Given the description of an element on the screen output the (x, y) to click on. 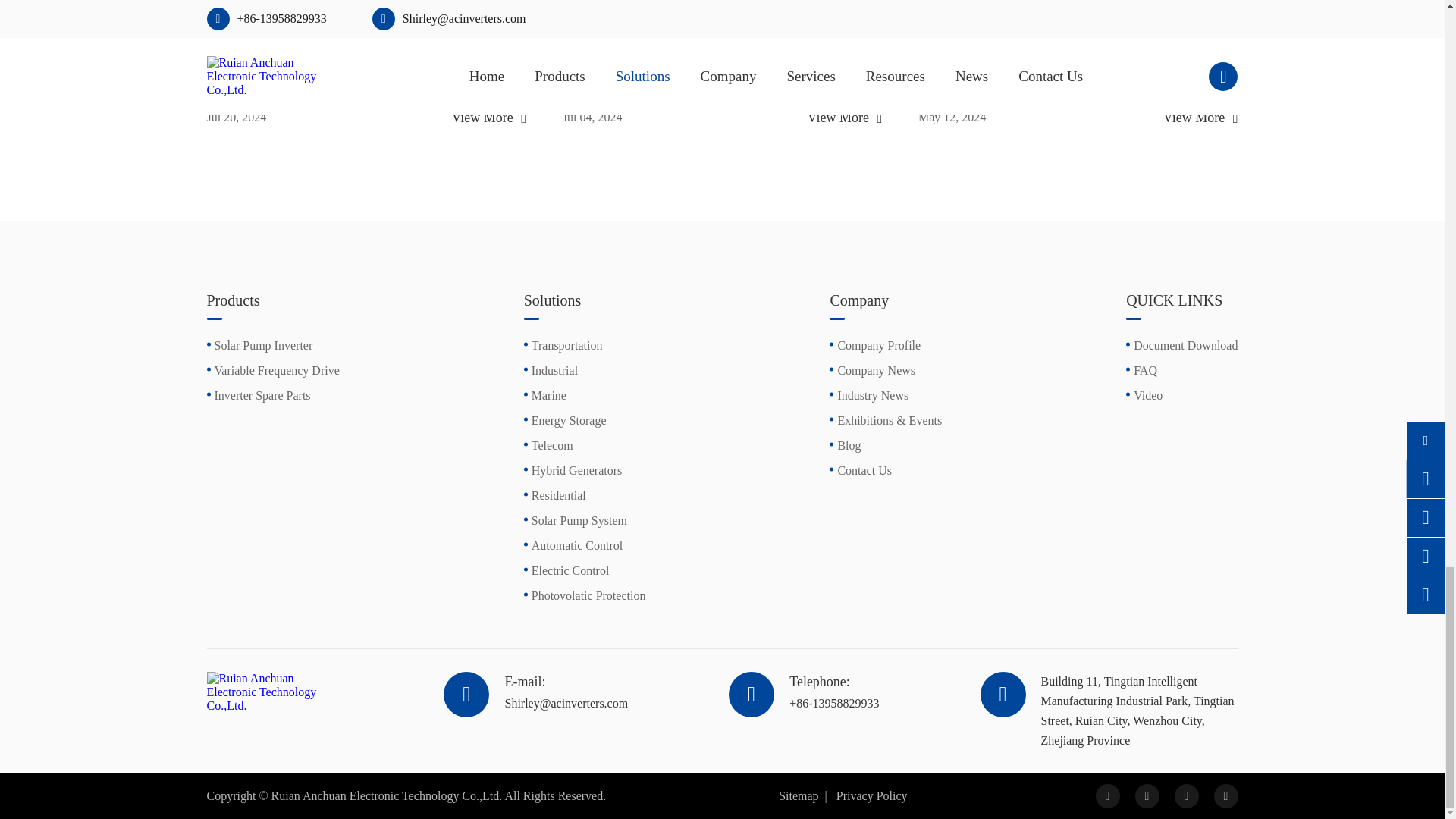
Ruian Anchuan Electronic Technology Co.,Ltd. (274, 691)
